Given the description of an element on the screen output the (x, y) to click on. 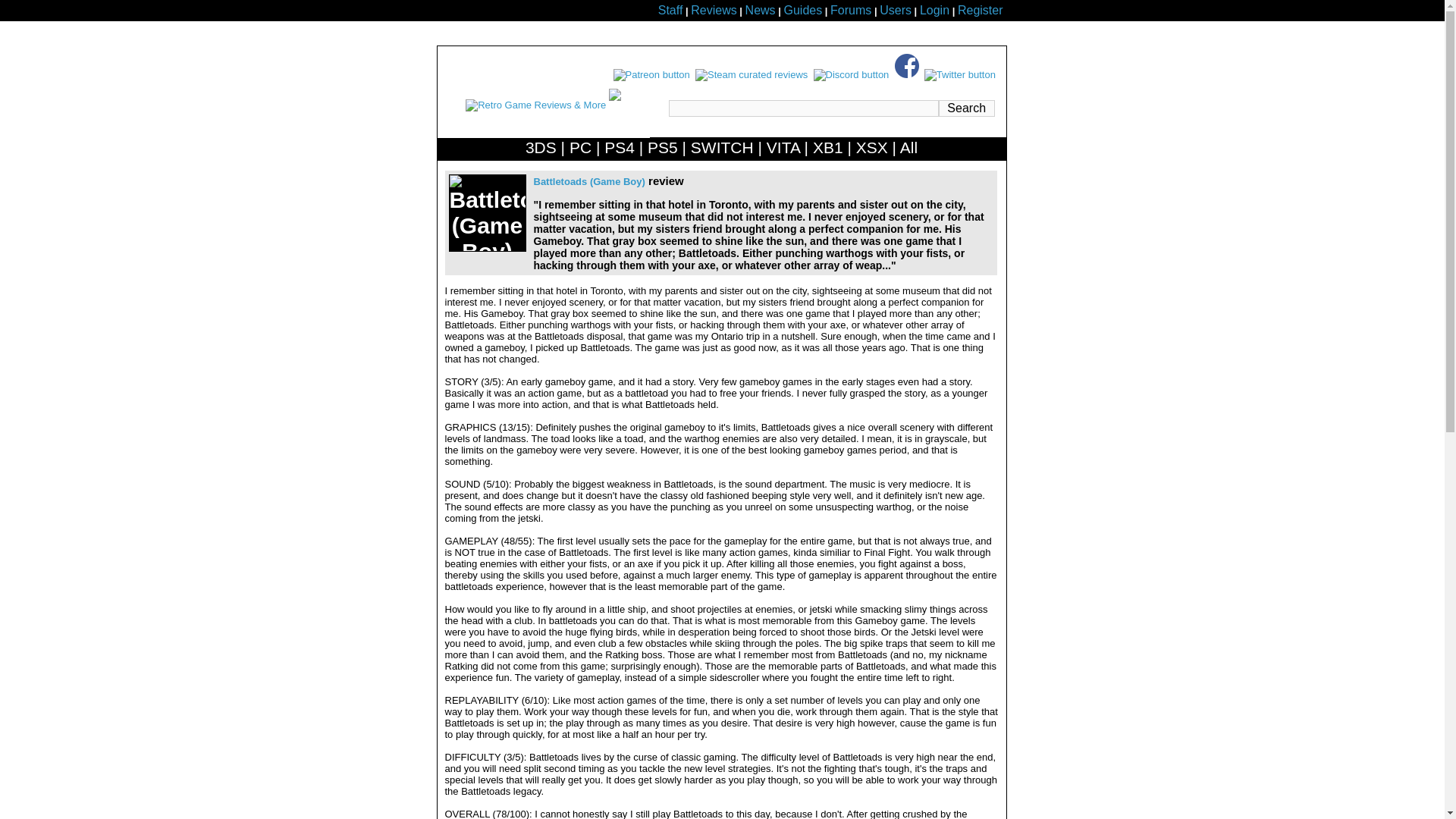
PC Game Reviews (580, 149)
PS5 (662, 149)
Information about site staff and openings (670, 10)
 Search  (966, 108)
HonestGamers forums (849, 10)
Login (934, 10)
Get to know us on the HonestGamers Discord server (851, 74)
HonestGamers on Facebook (906, 74)
PlayStation 4 Game Reviews (619, 149)
All (908, 149)
